Given the description of an element on the screen output the (x, y) to click on. 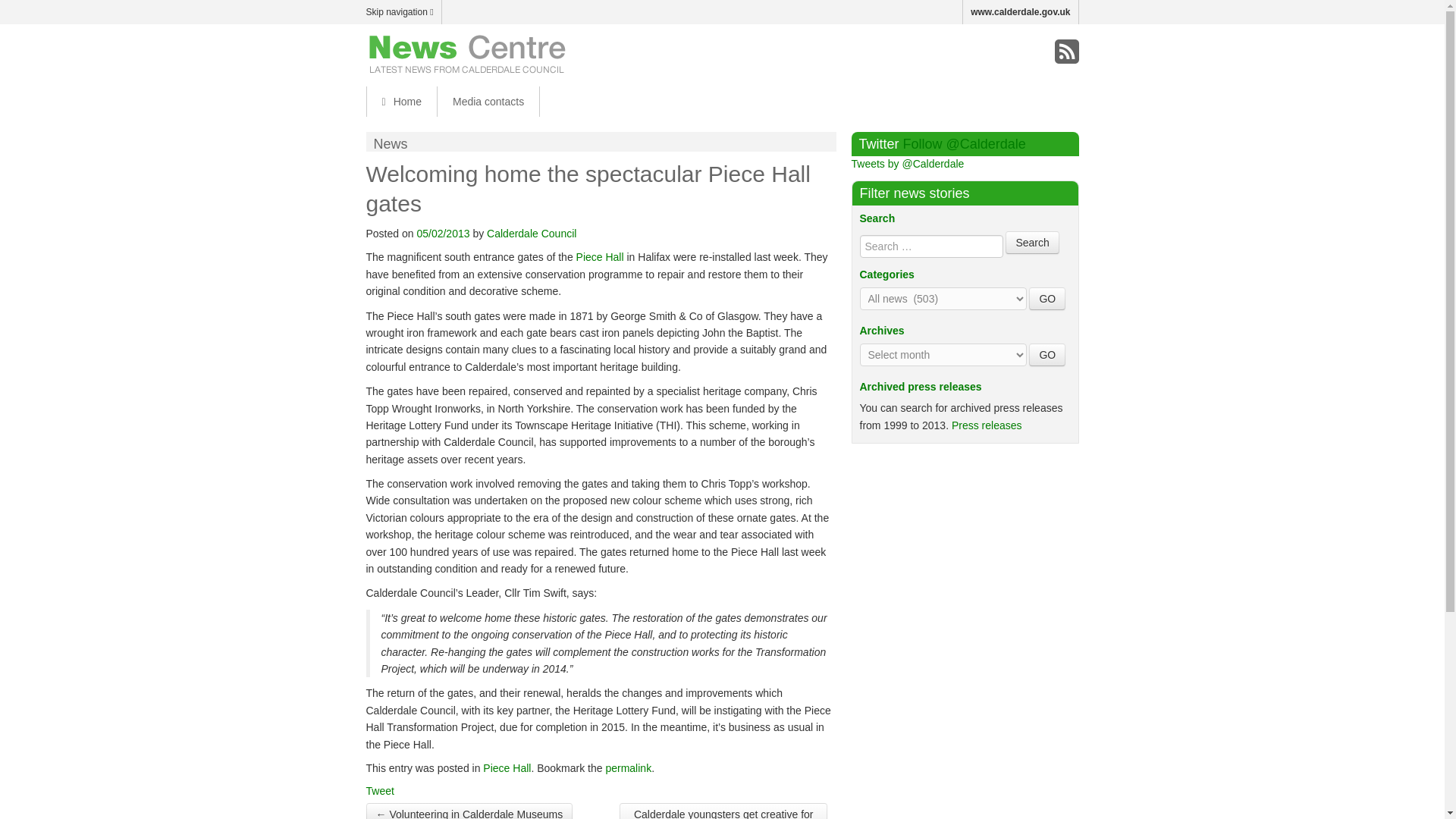
Press releases (987, 425)
www.calderdale.gov.uk (1020, 12)
Media contacts (489, 101)
Search (1032, 241)
View all posts by Calderdale Council (531, 233)
Tweet (379, 790)
GO (1047, 298)
Piece Hall (600, 256)
Home (400, 101)
Facebook (1002, 51)
Home (400, 101)
9:05 am (442, 233)
Piece Hall (507, 767)
GO (1047, 354)
Skip navigation (403, 12)
